Given the description of an element on the screen output the (x, y) to click on. 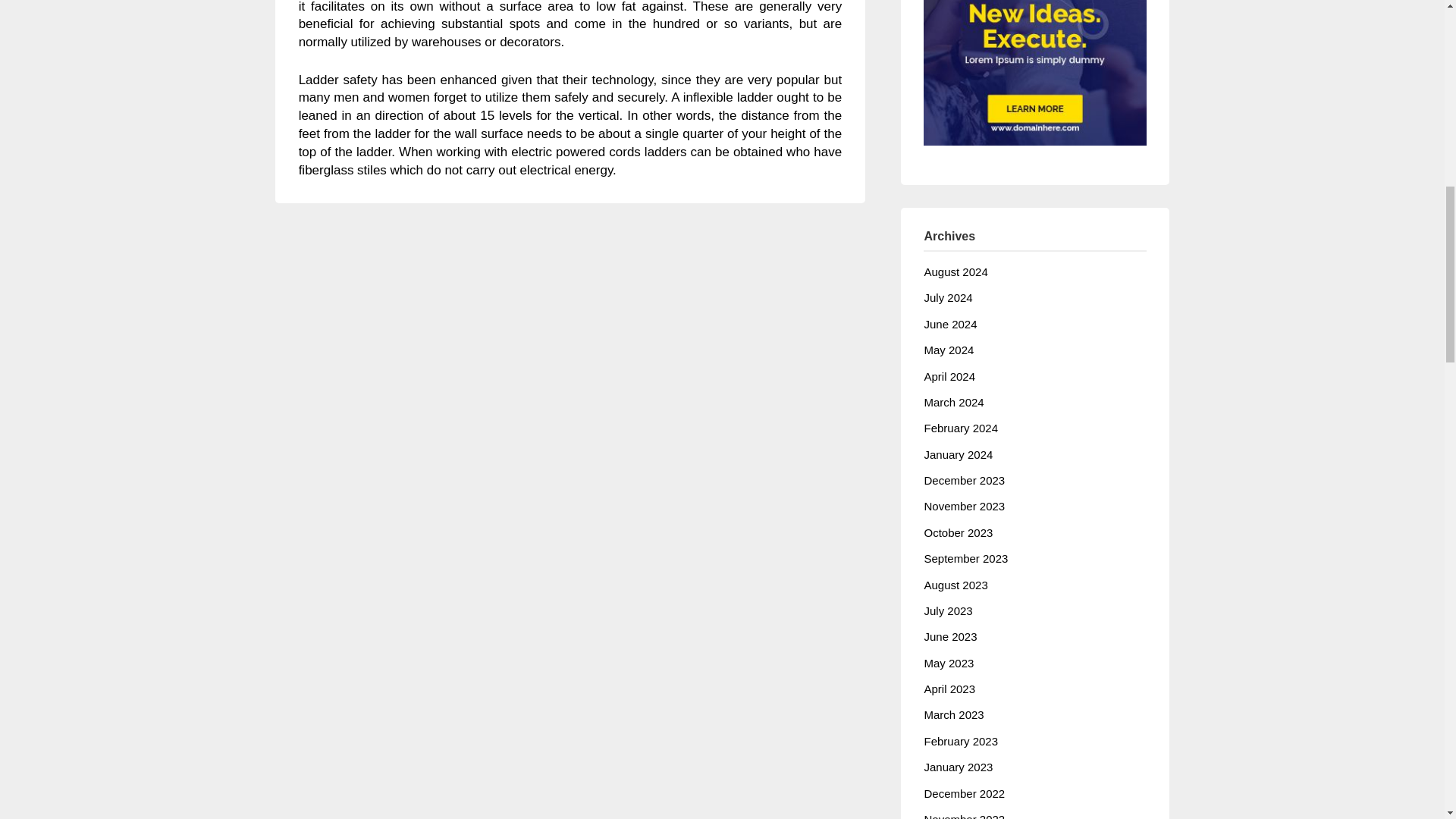
October 2023 (957, 532)
December 2022 (963, 793)
August 2024 (955, 271)
December 2023 (963, 480)
April 2023 (949, 688)
March 2024 (953, 401)
July 2023 (947, 610)
June 2024 (949, 323)
March 2023 (953, 714)
August 2023 (955, 584)
